Given the description of an element on the screen output the (x, y) to click on. 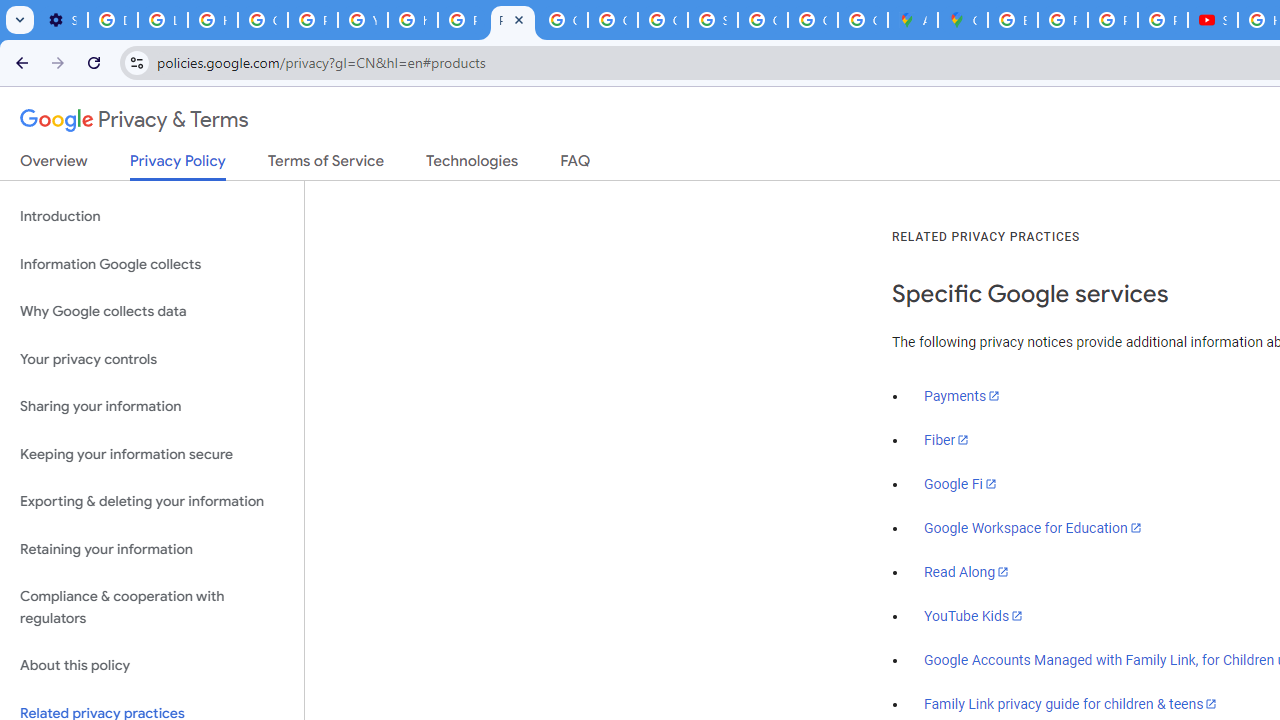
Privacy Help Center - Policies Help (312, 20)
Google Maps (963, 20)
Google Fi (960, 484)
Privacy Help Center - Policies Help (1112, 20)
